Given the description of an element on the screen output the (x, y) to click on. 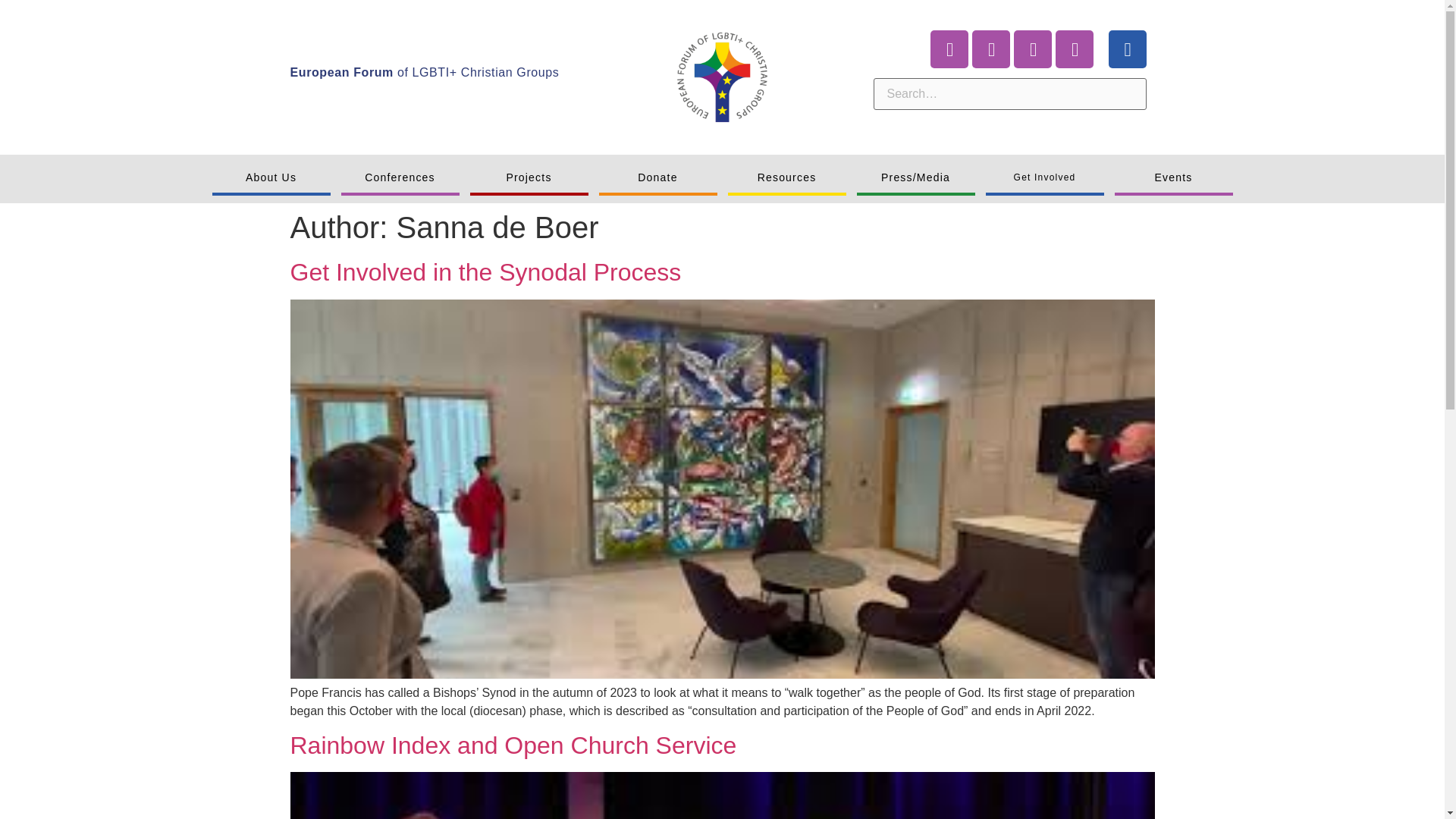
Events (1174, 178)
Projects (529, 178)
Get Involved in the Synodal Process (485, 271)
Rainbow Index and Open Church Service (512, 745)
Conferences (400, 178)
Get Involved (1044, 178)
About Us (271, 178)
Resources (786, 178)
Donate (657, 178)
